Given the description of an element on the screen output the (x, y) to click on. 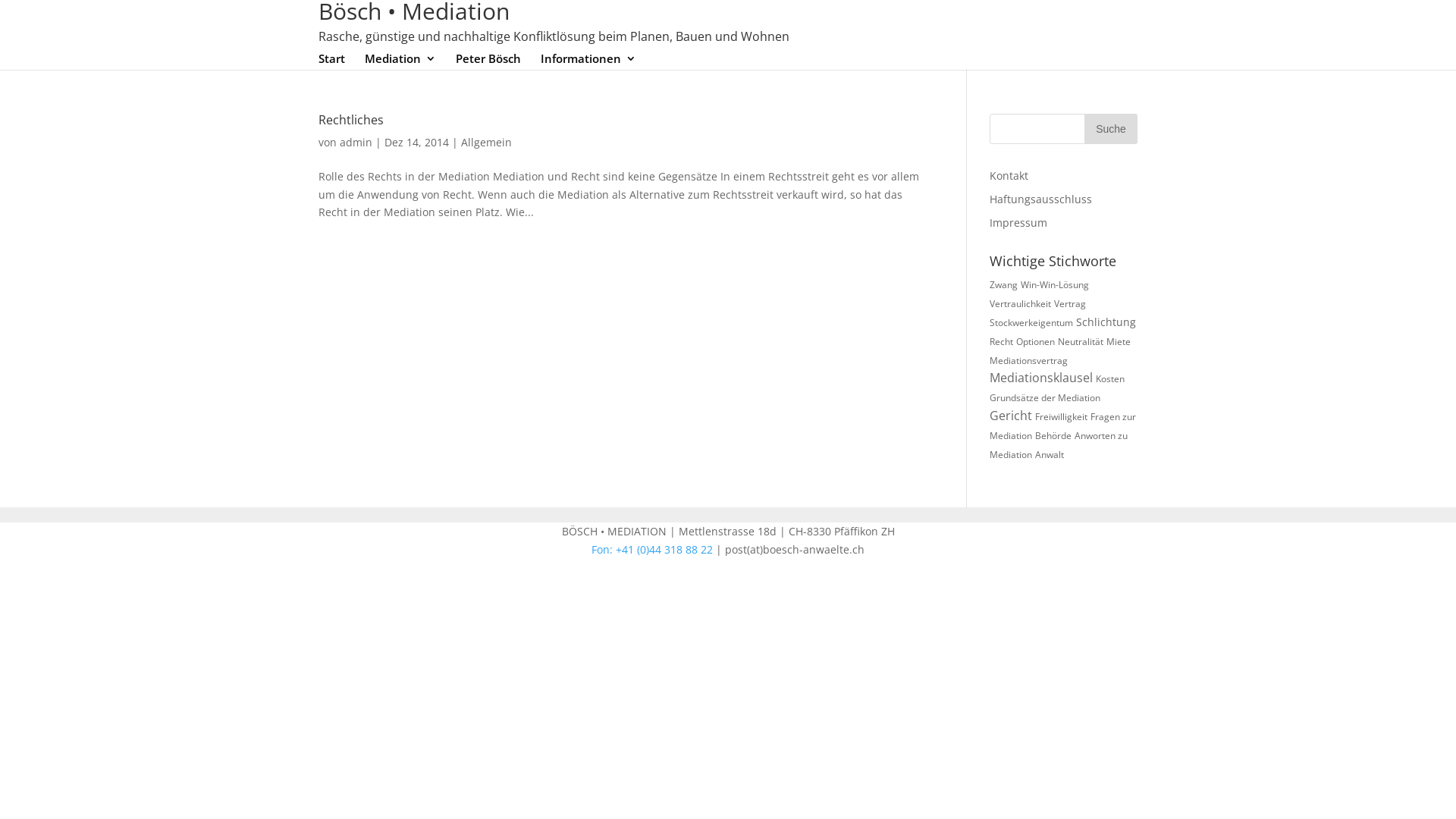
Kosten Element type: text (1109, 378)
Kontakt Element type: text (1008, 175)
Mediationsklausel Element type: text (1040, 377)
Start Element type: text (331, 61)
Anwalt Element type: text (1049, 454)
Stockwerkeigentum Element type: text (1031, 322)
Fragen zur Mediation Element type: text (1062, 426)
Optionen Element type: text (1035, 341)
Schlichtung Element type: text (1105, 321)
admin Element type: text (355, 141)
Mediation Element type: text (400, 61)
Freiwilligkeit Element type: text (1061, 416)
Mediationsvertrag Element type: text (1028, 360)
Haftungsausschluss Element type: text (1040, 198)
Fon: +41 (0)44 318 88 22 Element type: text (651, 549)
Informationen Element type: text (588, 61)
Anworten zu Mediation Element type: text (1058, 445)
Gericht Element type: text (1010, 415)
Zwang Element type: text (1003, 284)
Miete Element type: text (1118, 341)
Suche Element type: text (1110, 128)
Impressum Element type: text (1018, 222)
Recht Element type: text (1001, 341)
Vertraulichkeit Element type: text (1020, 303)
Vertrag Element type: text (1069, 303)
Rechtliches Element type: text (350, 119)
